Given the description of an element on the screen output the (x, y) to click on. 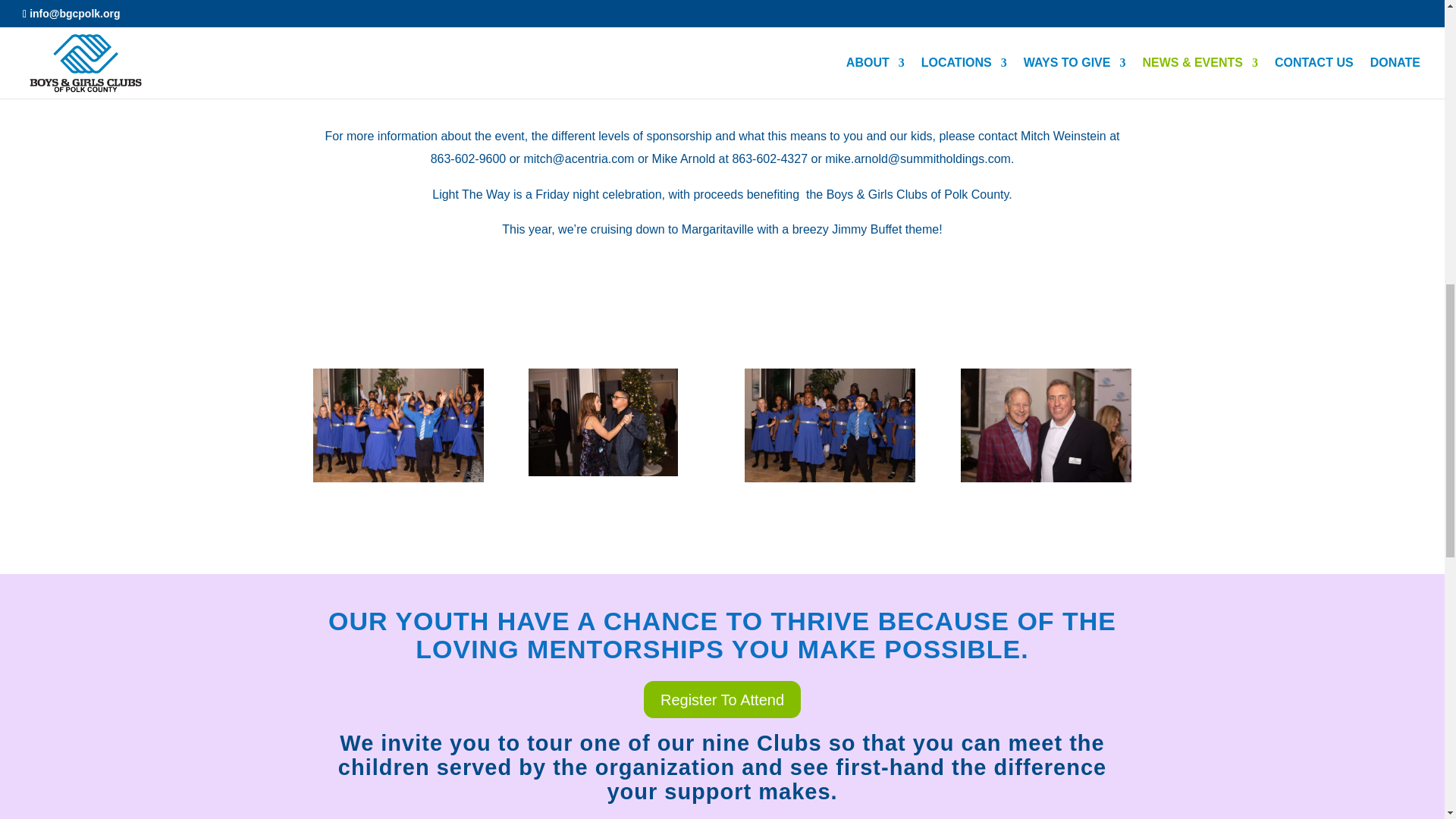
dancing chrstms tree (603, 421)
LTW 2022 hands up (398, 425)
LTW 2022 singing (829, 425)
steve and mayor (1045, 425)
